Given the description of an element on the screen output the (x, y) to click on. 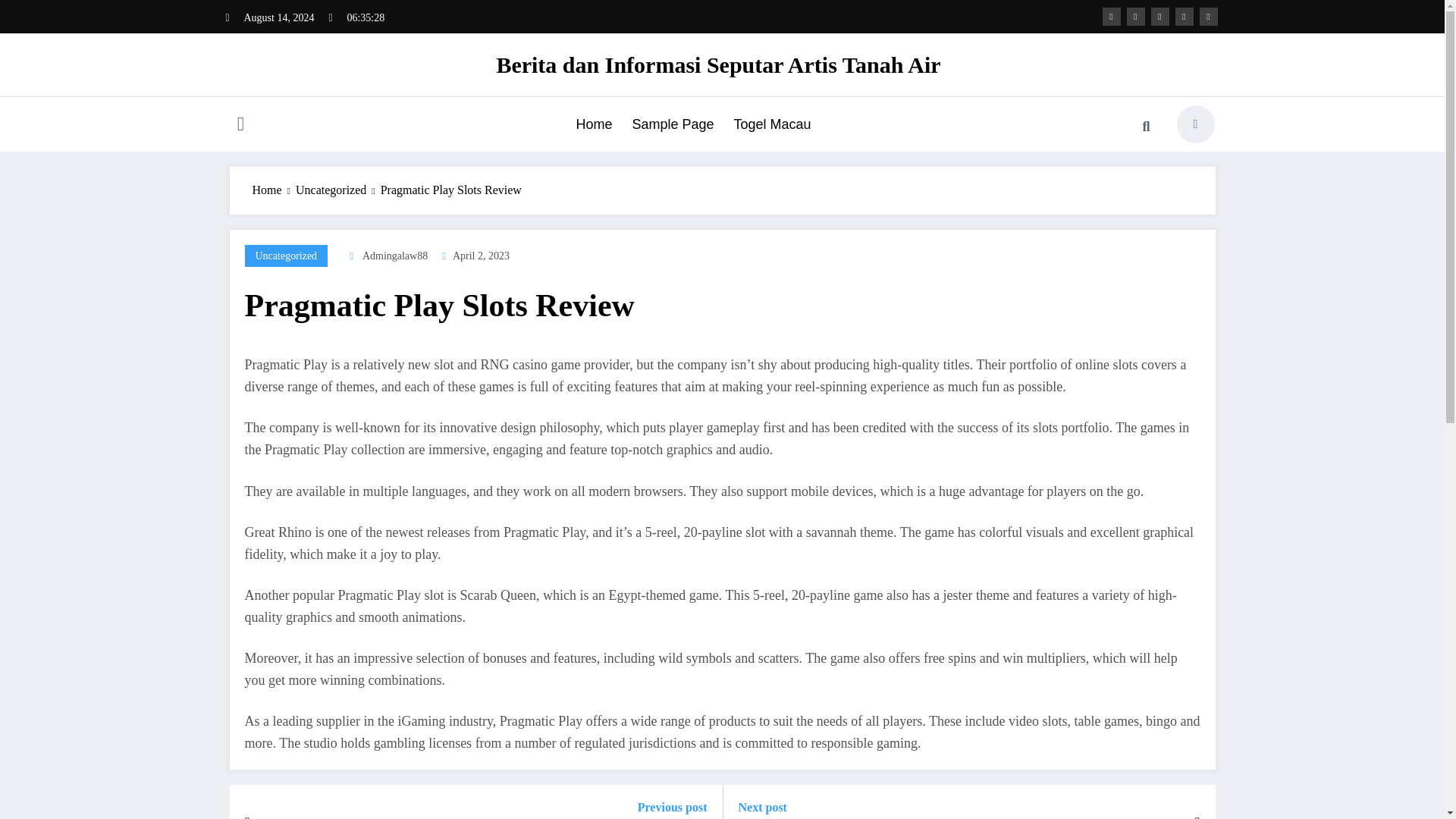
Previous post (604, 807)
Posts by admingalaw88 (395, 255)
Berita dan Informasi Seputar Artis Tanah Air (718, 64)
facebook-f (1111, 16)
Toggle Icon (239, 125)
date-time (480, 255)
youtube (1208, 16)
dribbble (1160, 16)
Uncategorized (330, 189)
Home (593, 124)
